Given the description of an element on the screen output the (x, y) to click on. 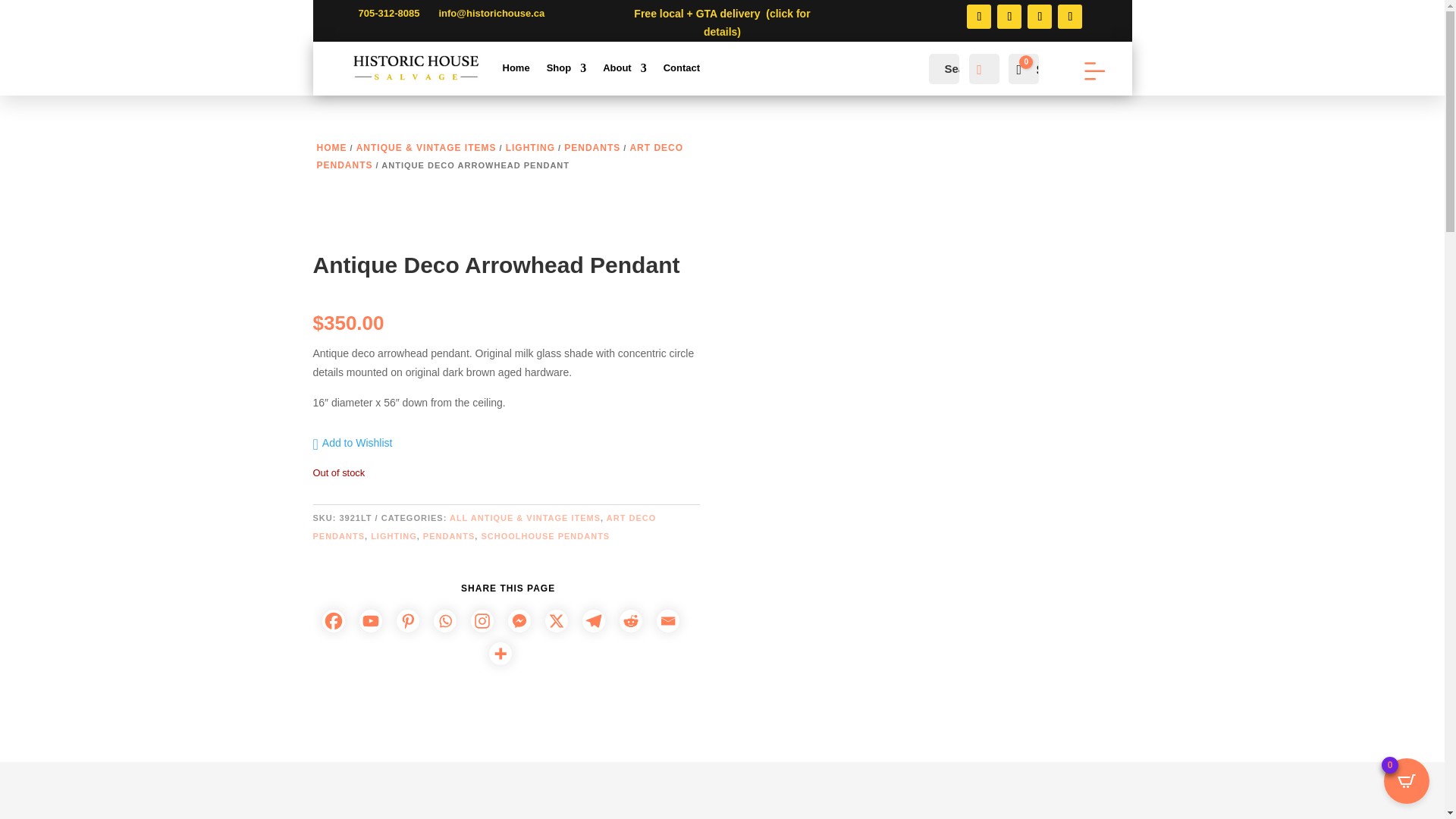
Whatsapp (450, 617)
Instagram (487, 617)
Follow on Instagram (1009, 16)
Telegram (598, 617)
Follow on TikTok (1069, 16)
X (561, 617)
Youtube (376, 617)
Follow on Facebook (978, 16)
Reddit (636, 617)
Pinterest (413, 617)
